Given the description of an element on the screen output the (x, y) to click on. 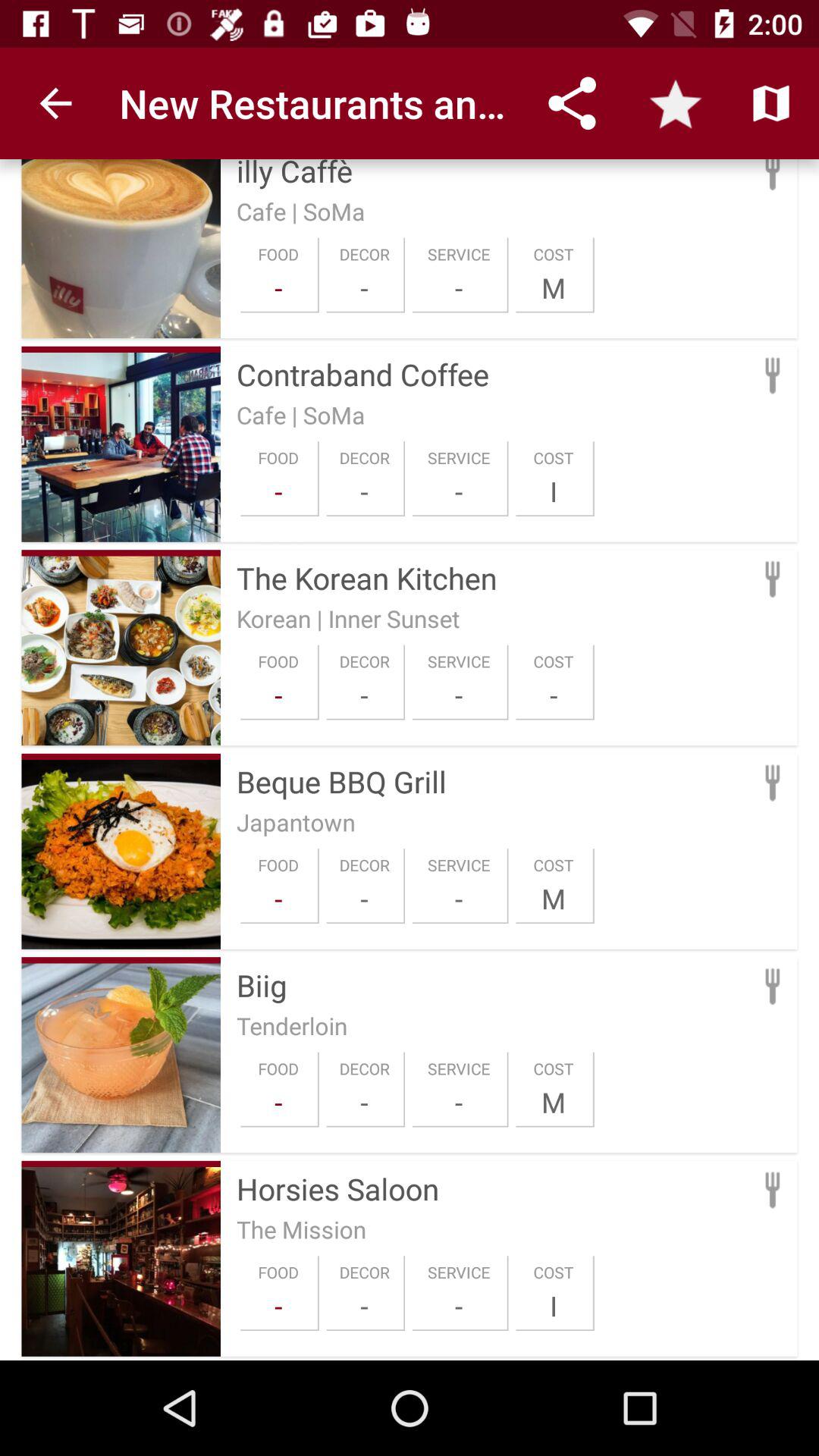
launch icon to the left of the service item (364, 1305)
